Given the description of an element on the screen output the (x, y) to click on. 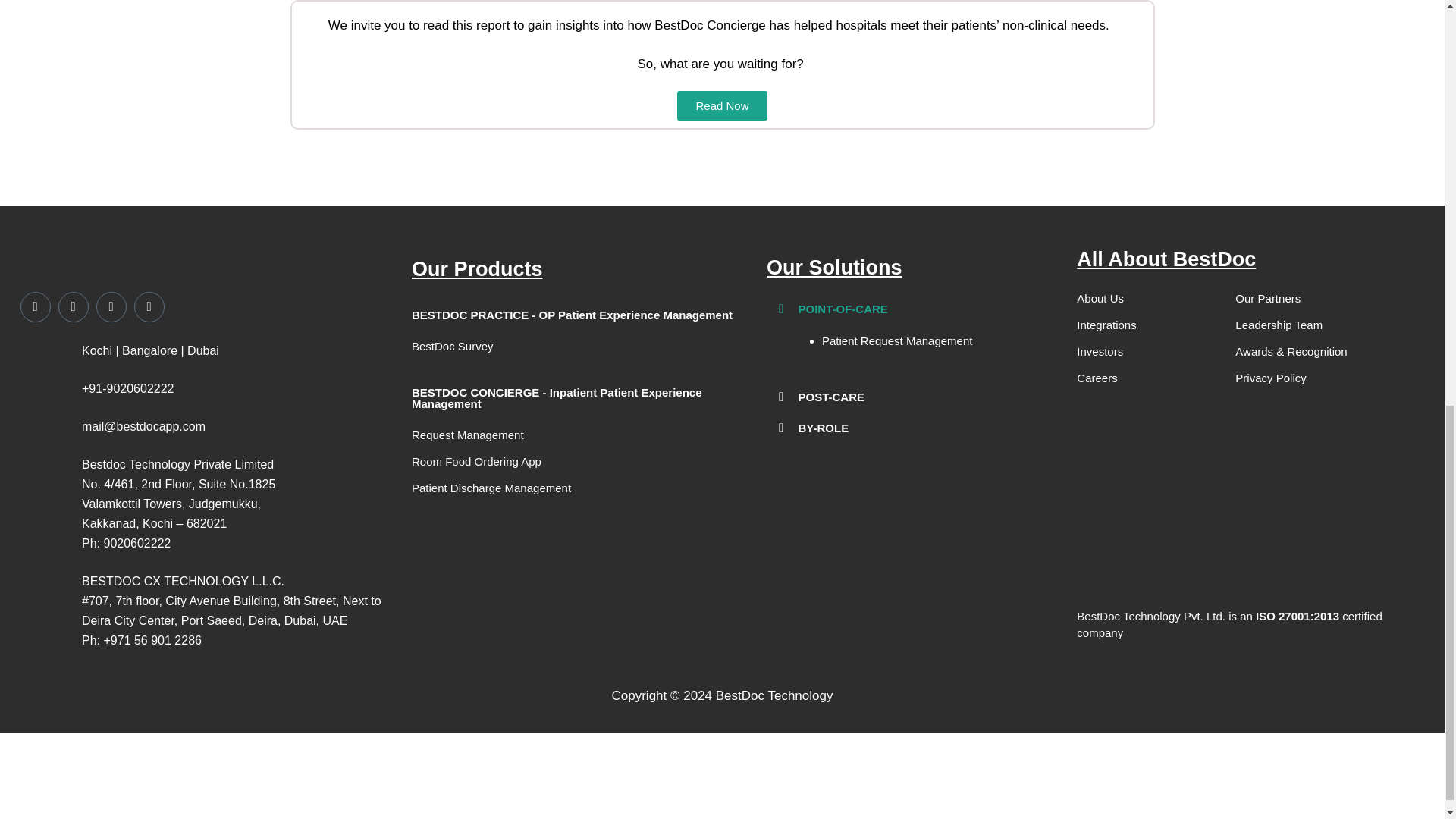
Scroll back to top (1406, 720)
